Given the description of an element on the screen output the (x, y) to click on. 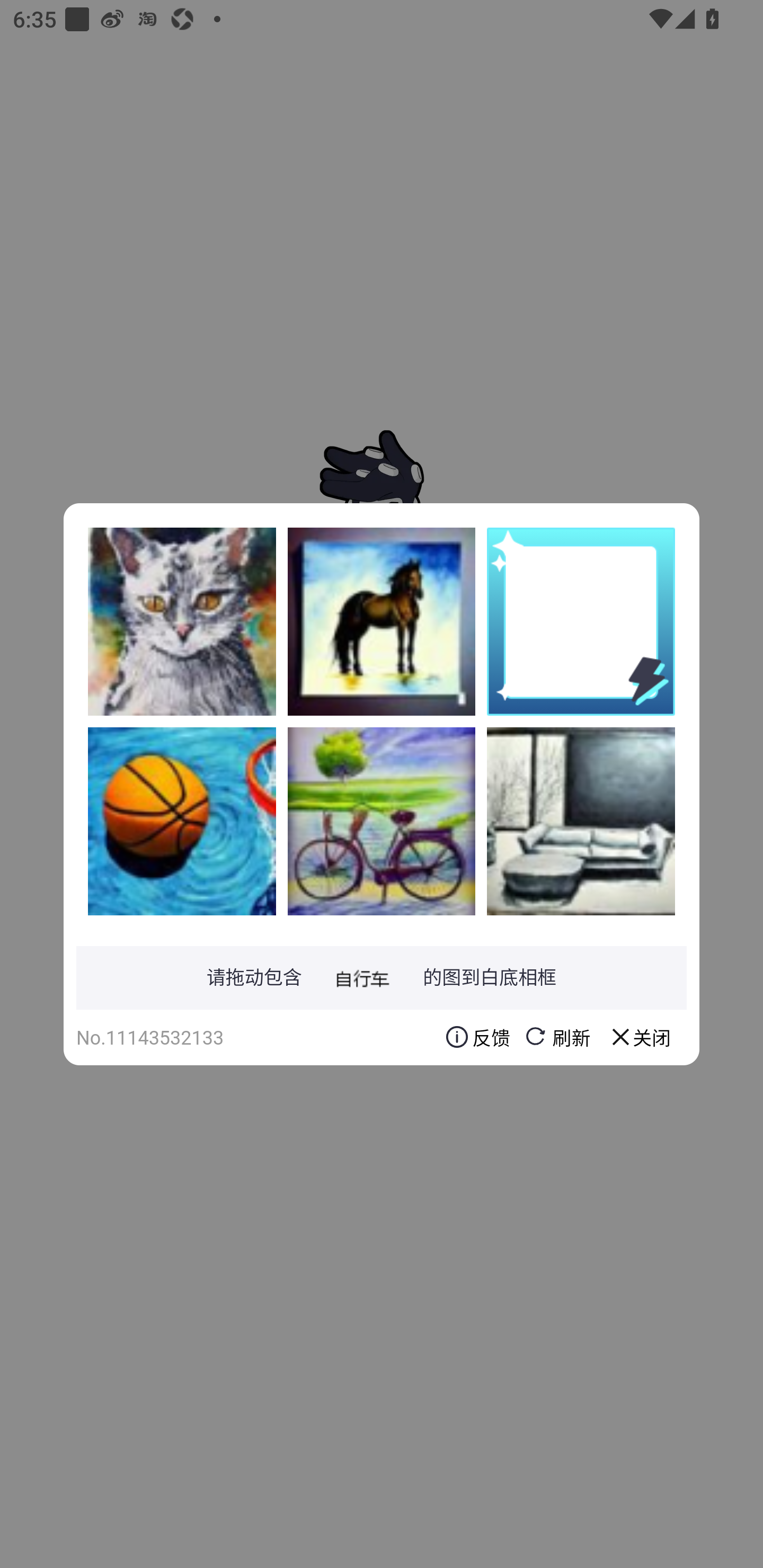
eSOb (381, 820)
